Given the description of an element on the screen output the (x, y) to click on. 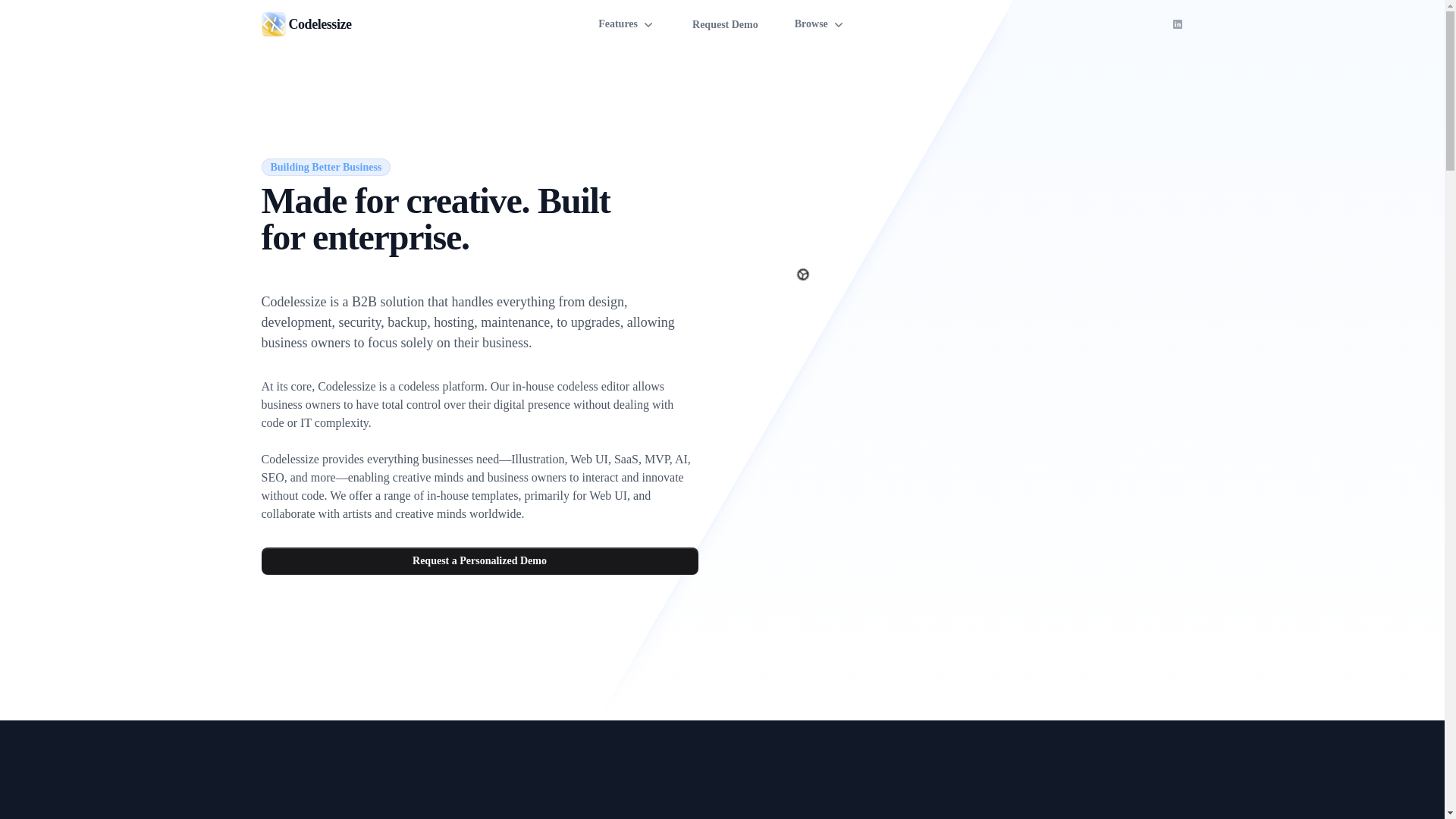
Codelessize (272, 23)
Request Demo (725, 23)
Features (627, 24)
Linkedin (1177, 24)
Request a Personalized Demo (478, 560)
Browse (819, 24)
Codelessize (317, 24)
